Given the description of an element on the screen output the (x, y) to click on. 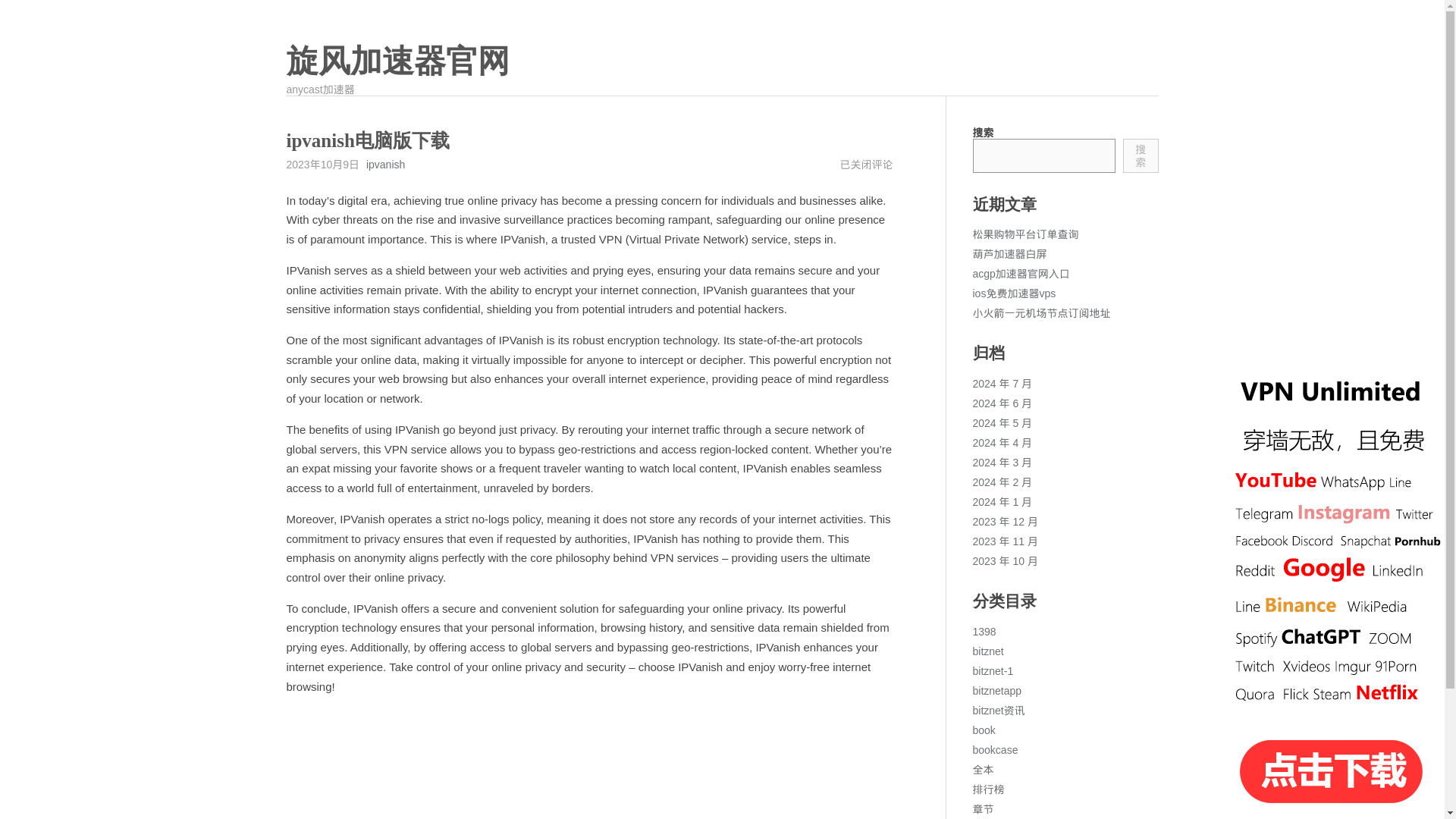
bitznet-1 (992, 671)
bitznetapp (997, 690)
book (983, 729)
ipvanish (385, 164)
bitznet (987, 651)
1398 (983, 631)
bookcase (994, 749)
